Given the description of an element on the screen output the (x, y) to click on. 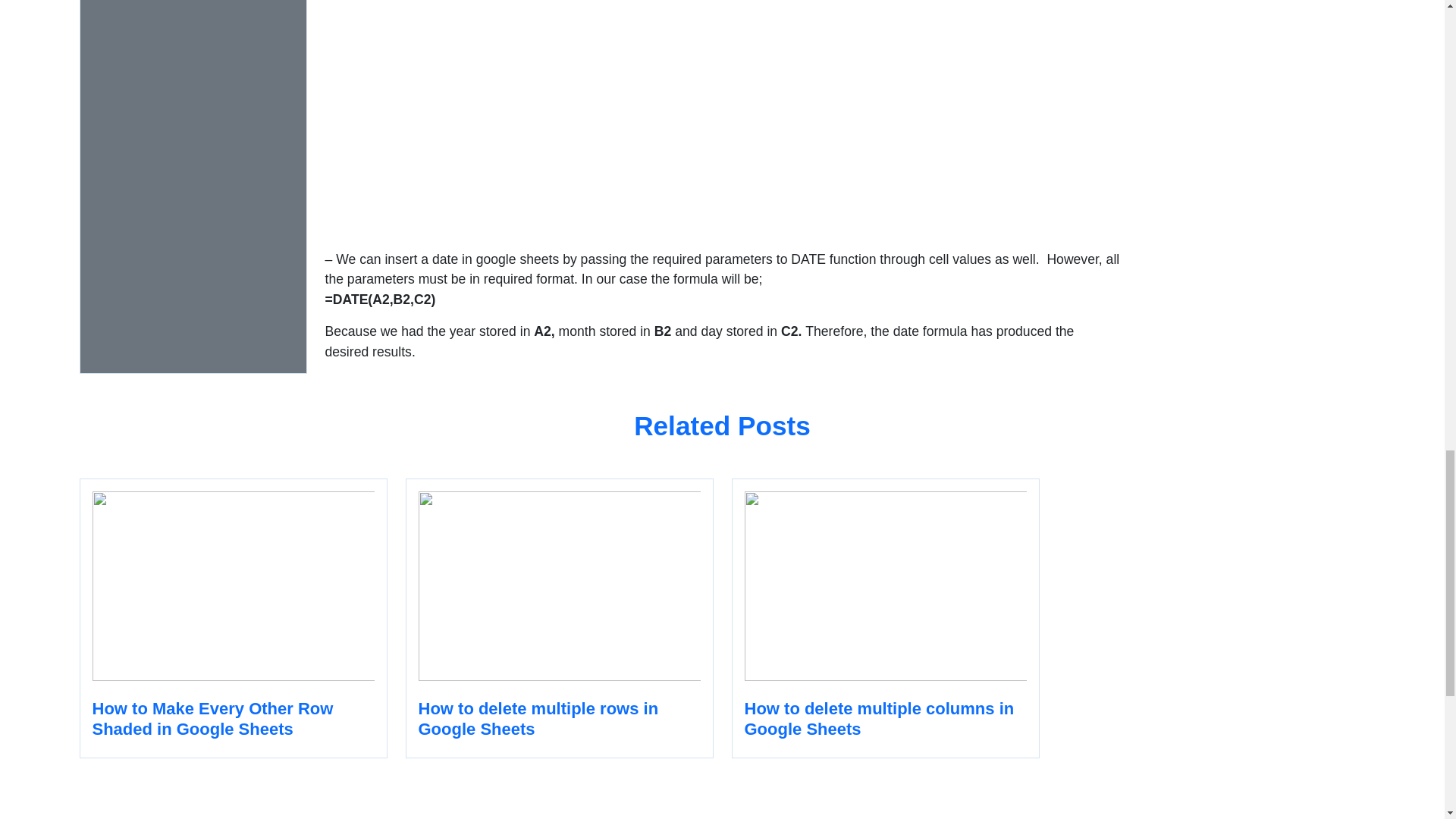
How to Make Every Other Row Shaded in Google Sheets (232, 618)
How to delete multiple columns in Google Sheets (884, 618)
How to delete multiple rows in Google Sheets (558, 618)
